Given the description of an element on the screen output the (x, y) to click on. 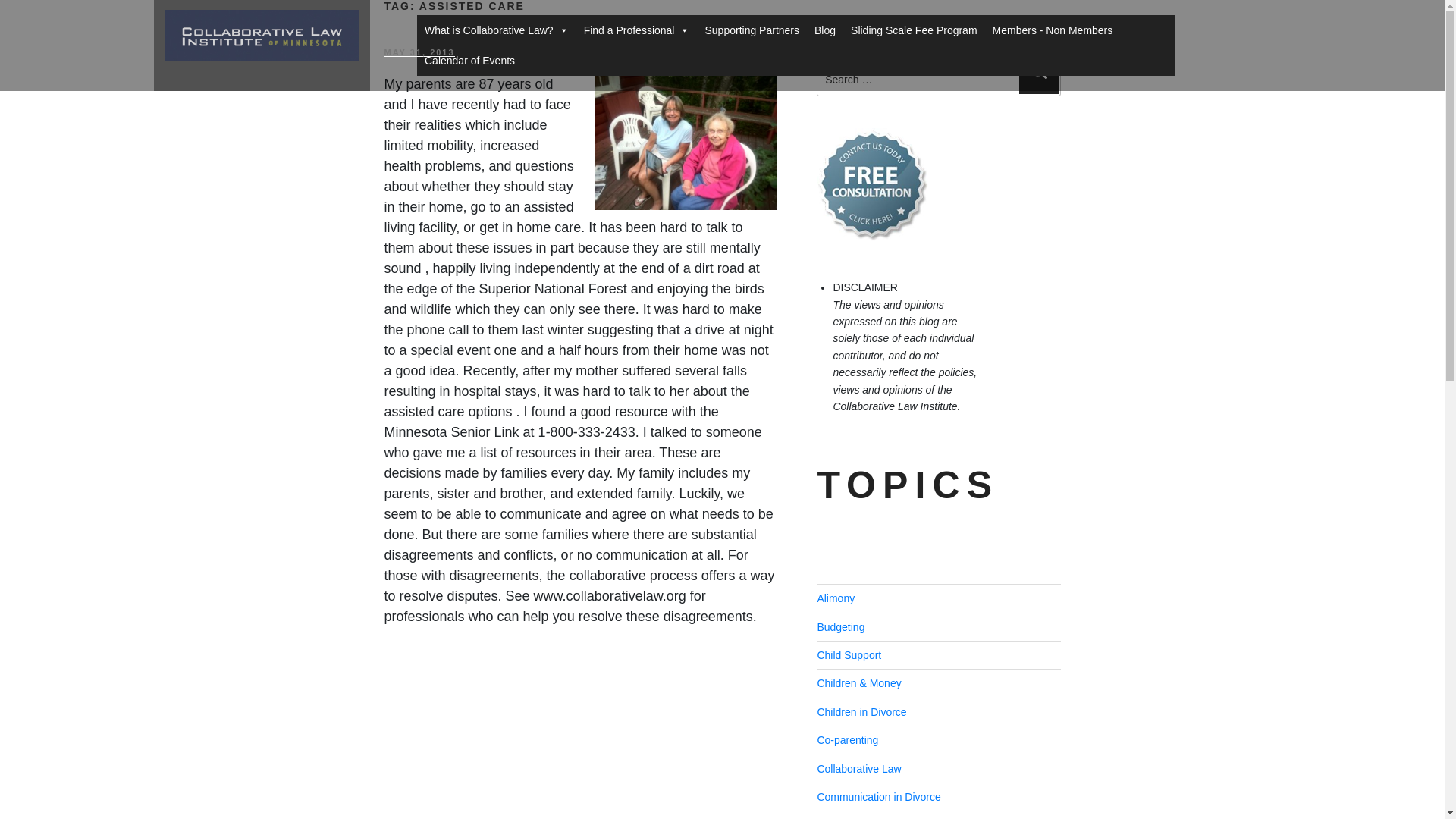
Co-parenting (846, 739)
Child Support (848, 654)
Budgeting (840, 626)
Members - Non Members (1053, 30)
Sliding Scale Fee Program (914, 30)
Children in Divorce (860, 711)
Communication in Divorce (878, 797)
Calendar of Events (469, 60)
Alimony (835, 598)
Blog (824, 30)
MAY 31, 2013 (419, 51)
What is Collaborative Law? (496, 30)
Find a Professional (636, 30)
Collaborative Law (858, 768)
Supporting Partners (751, 30)
